Given the description of an element on the screen output the (x, y) to click on. 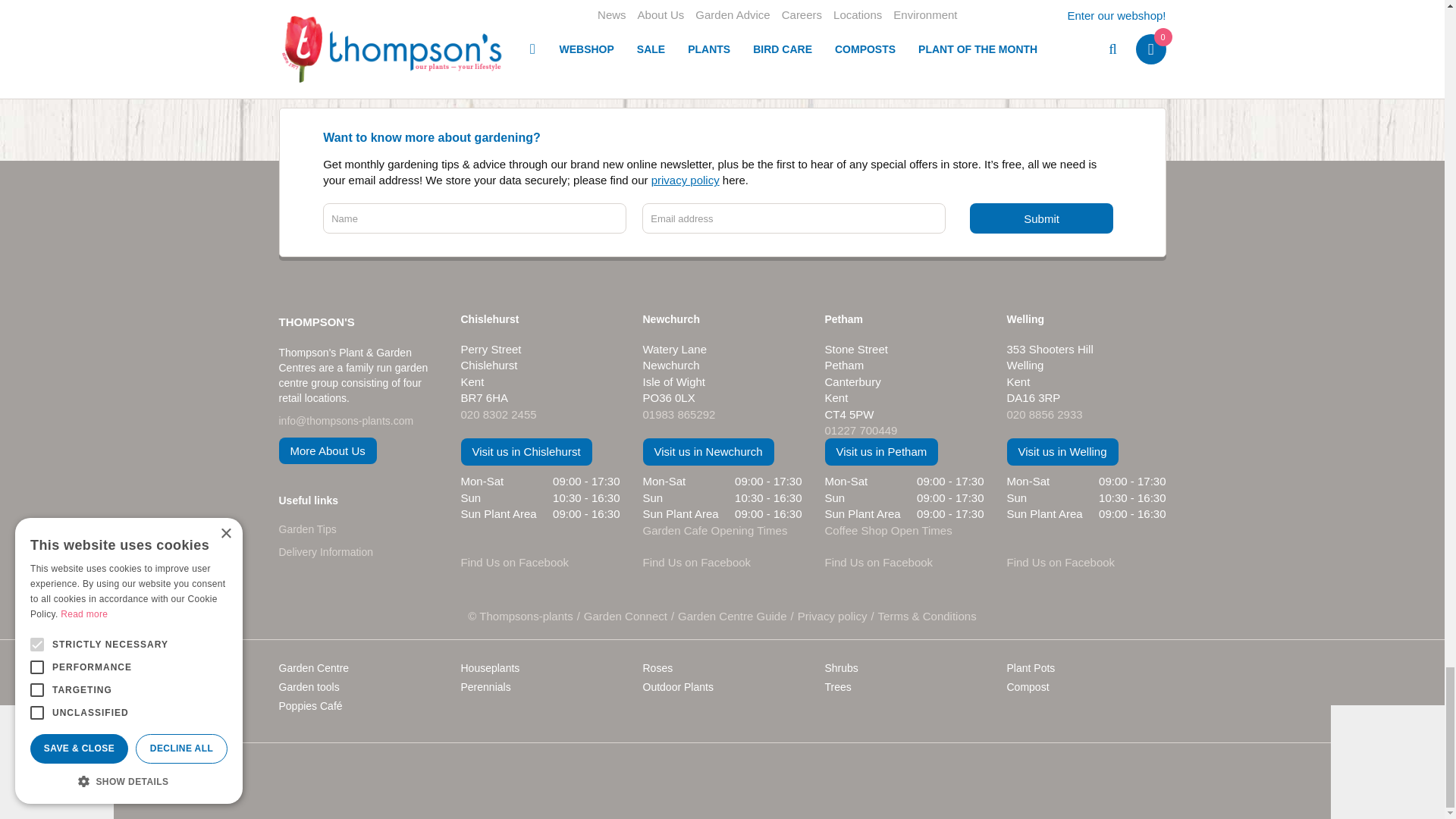
Submit (1041, 218)
